Given the description of an element on the screen output the (x, y) to click on. 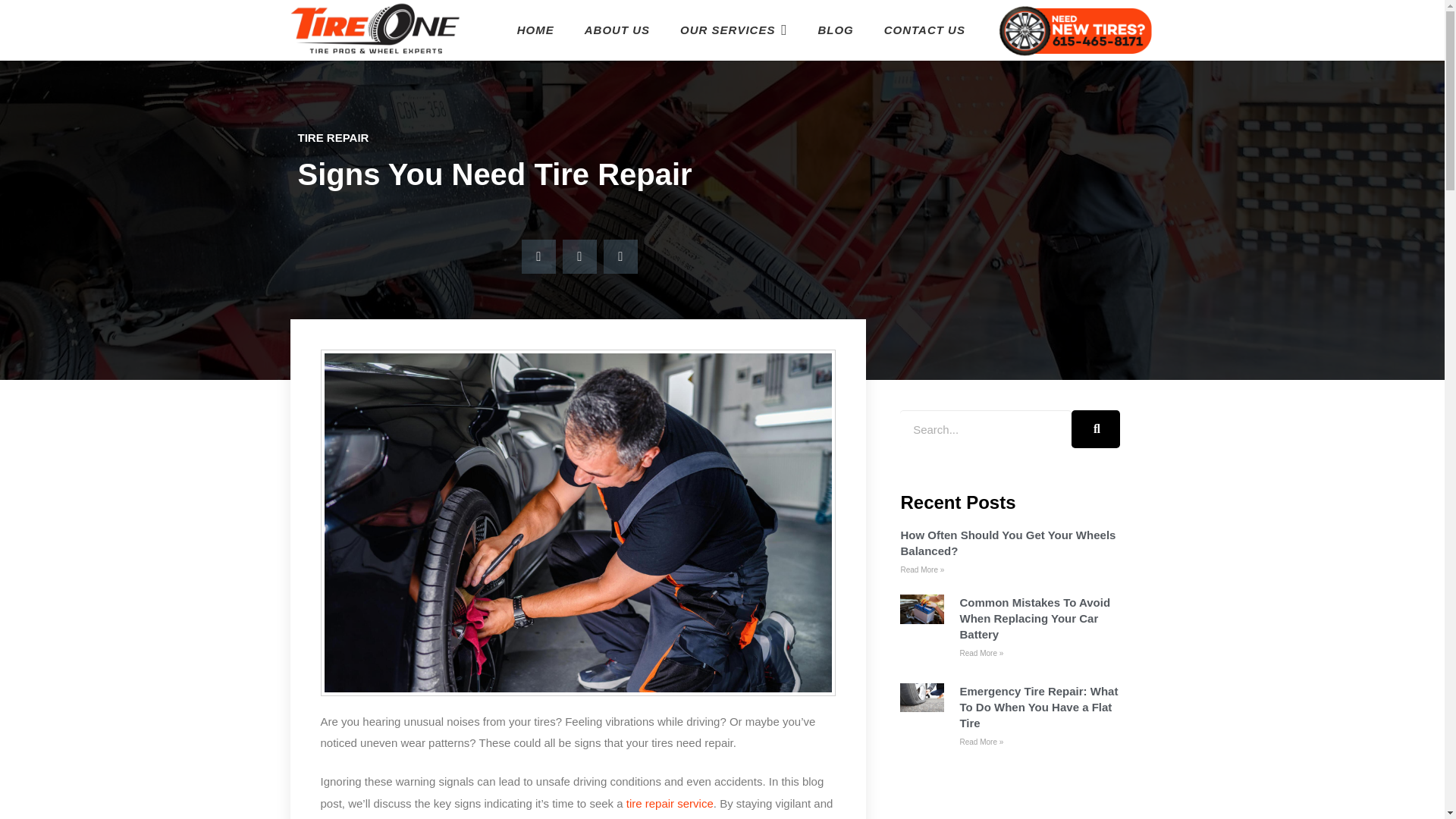
BLOG (834, 30)
CONTACT US (924, 30)
How Often Should You Get Your Wheels Balanced? (1007, 542)
ABOUT US (617, 30)
Common Mistakes To Avoid When Replacing Your Car Battery (1034, 618)
TIRE REPAIR (332, 137)
HOME (535, 30)
Emergency Tire Repair: What To Do When You Have a Flat Tire (1038, 706)
tire repair service (669, 802)
OUR SERVICES (733, 30)
